Given the description of an element on the screen output the (x, y) to click on. 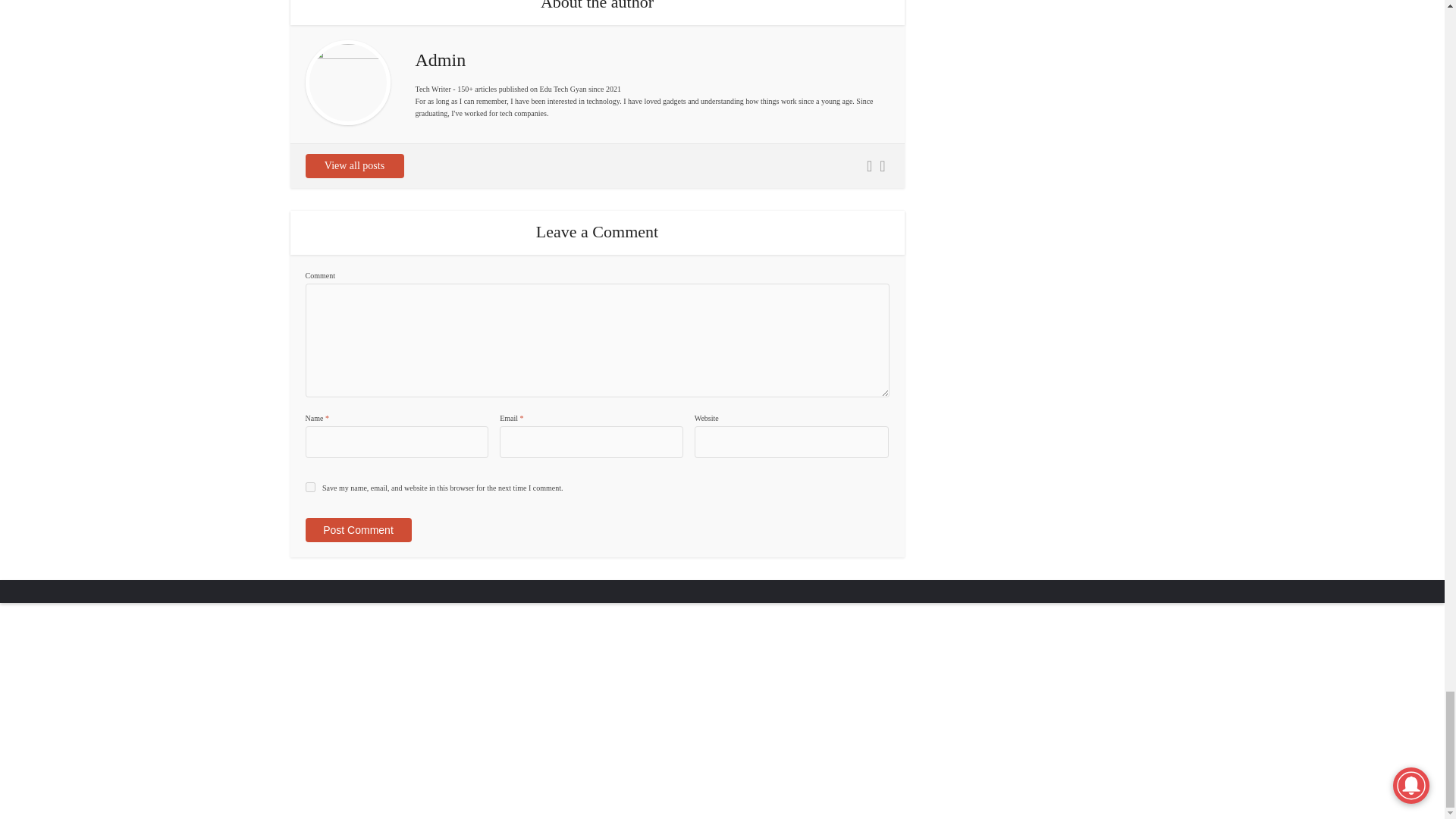
yes (309, 487)
Post Comment (357, 529)
